Given the description of an element on the screen output the (x, y) to click on. 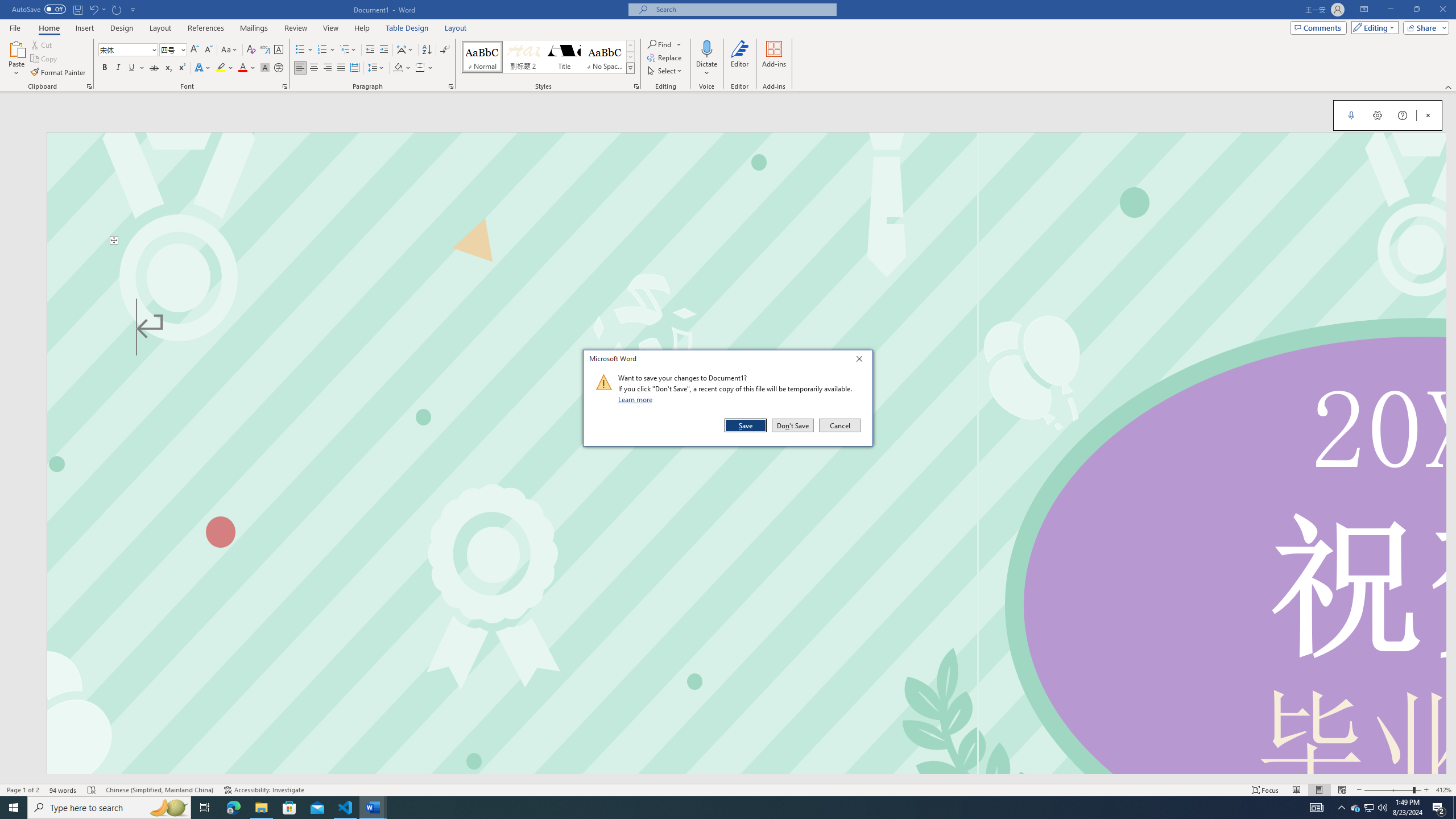
Language Chinese (Simplified, Mainland China) (159, 790)
Type here to search (108, 807)
Microsoft Store (289, 807)
